Given the description of an element on the screen output the (x, y) to click on. 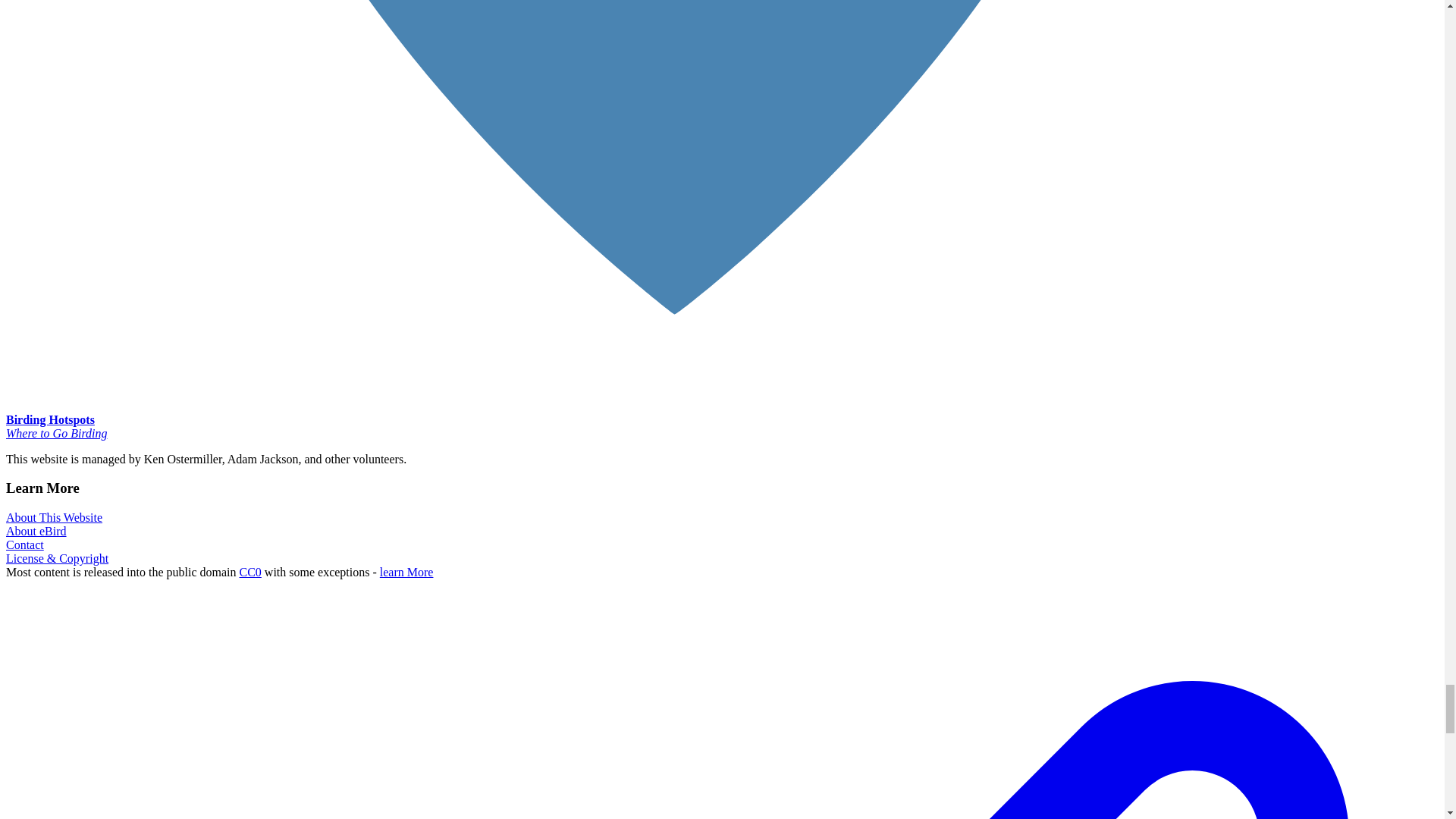
Contact (24, 544)
CC0 (251, 571)
learn More (406, 571)
About This Website (53, 517)
About eBird (35, 530)
